Given the description of an element on the screen output the (x, y) to click on. 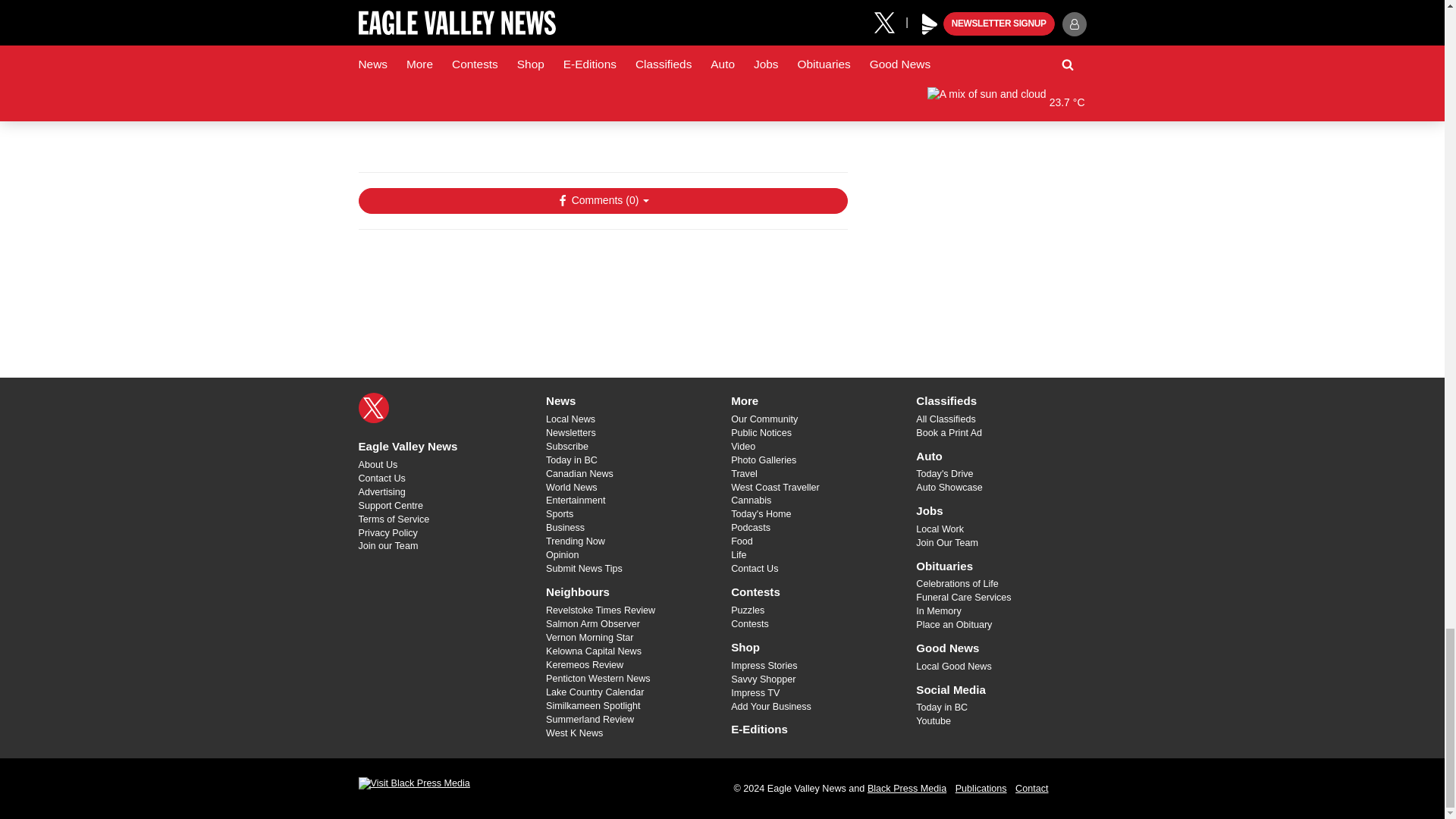
X (373, 408)
Show Comments (602, 200)
